Given the description of an element on the screen output the (x, y) to click on. 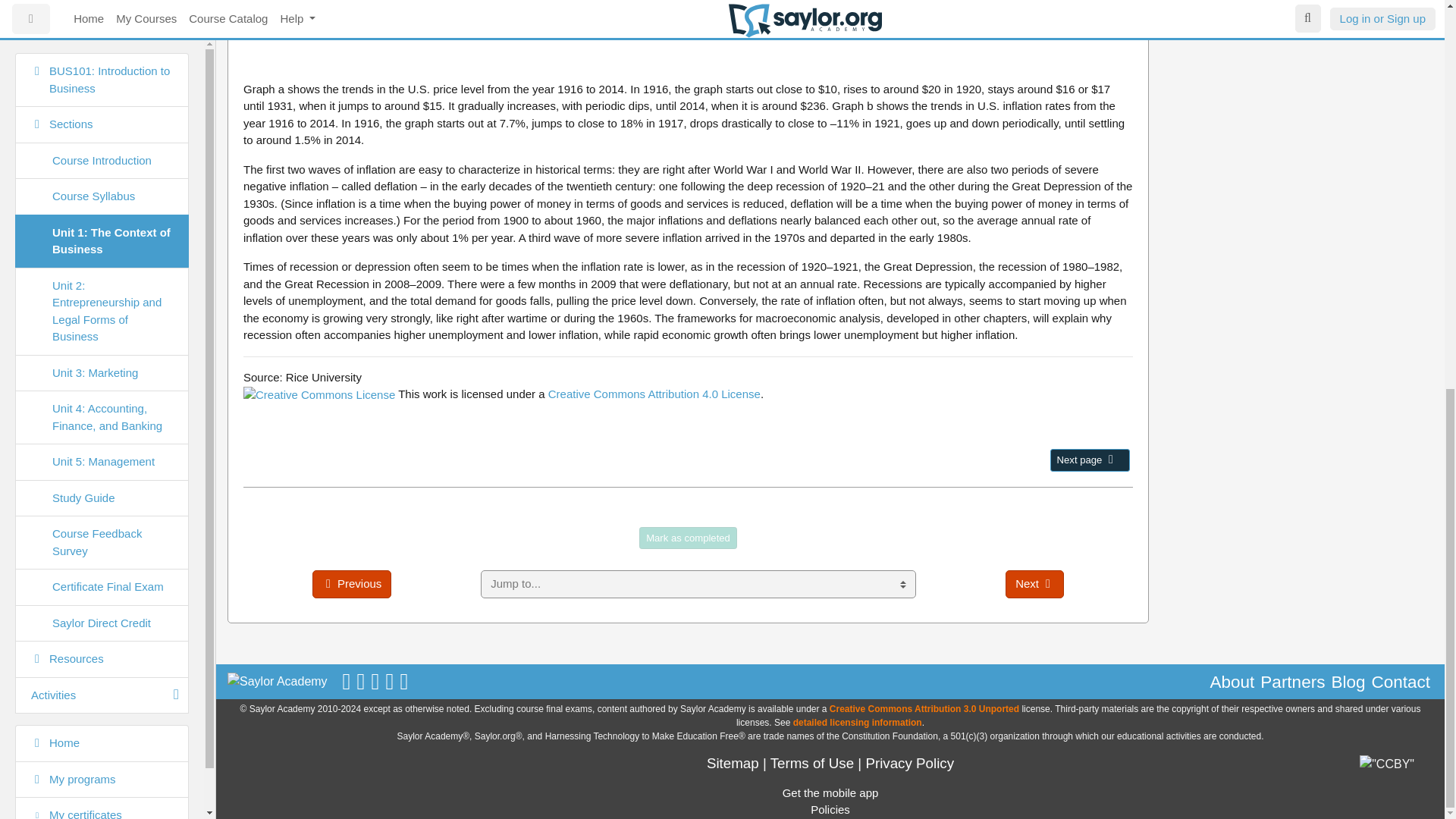
My certificates (101, 76)
Saylor Academy (277, 681)
Home (101, 11)
Next: Inflation around the World (1110, 459)
Next: Inflation around the World (1089, 459)
My programs (101, 40)
